Given the description of an element on the screen output the (x, y) to click on. 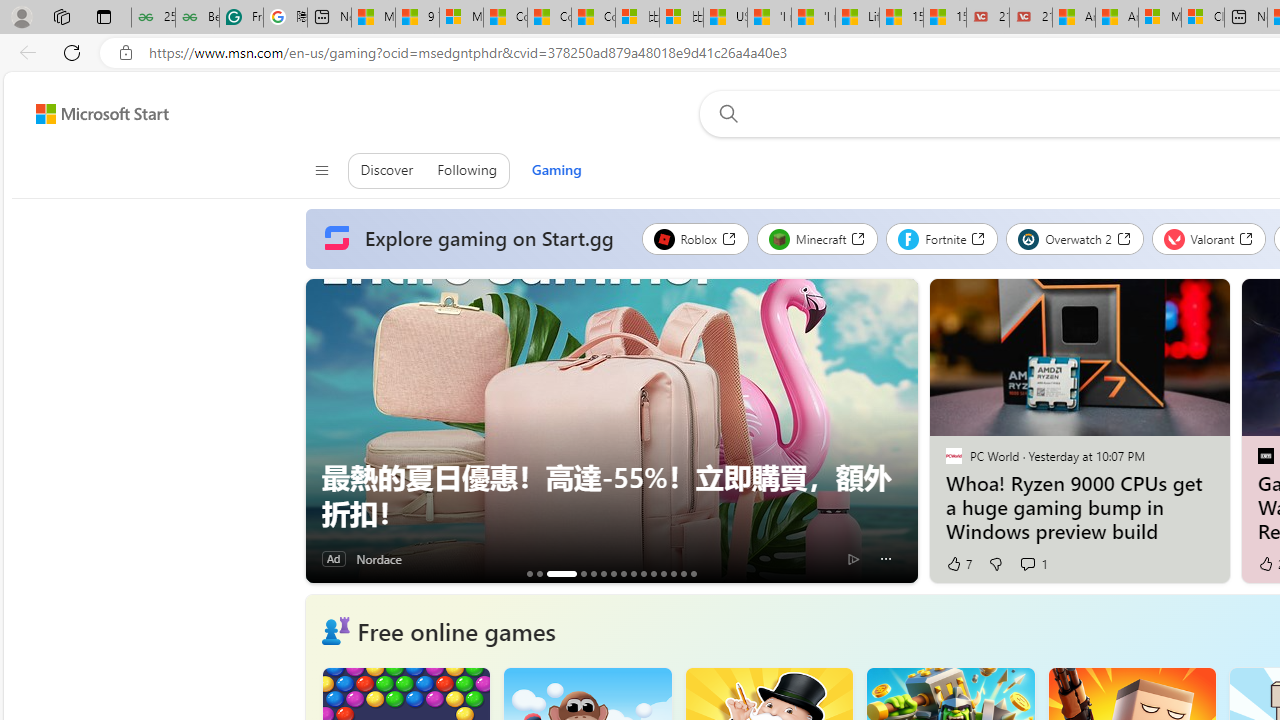
Skip to content (95, 113)
Dislike (995, 564)
Discover (387, 170)
Best SSL Certificates Provider in India - GeeksforGeeks (196, 17)
15 Ways Modern Life Contradicts the Teachings of Jesus (945, 17)
Free online games (456, 630)
Web search (724, 113)
USA TODAY - MSN (725, 17)
Overwatch 2 (1075, 238)
